Given the description of an element on the screen output the (x, y) to click on. 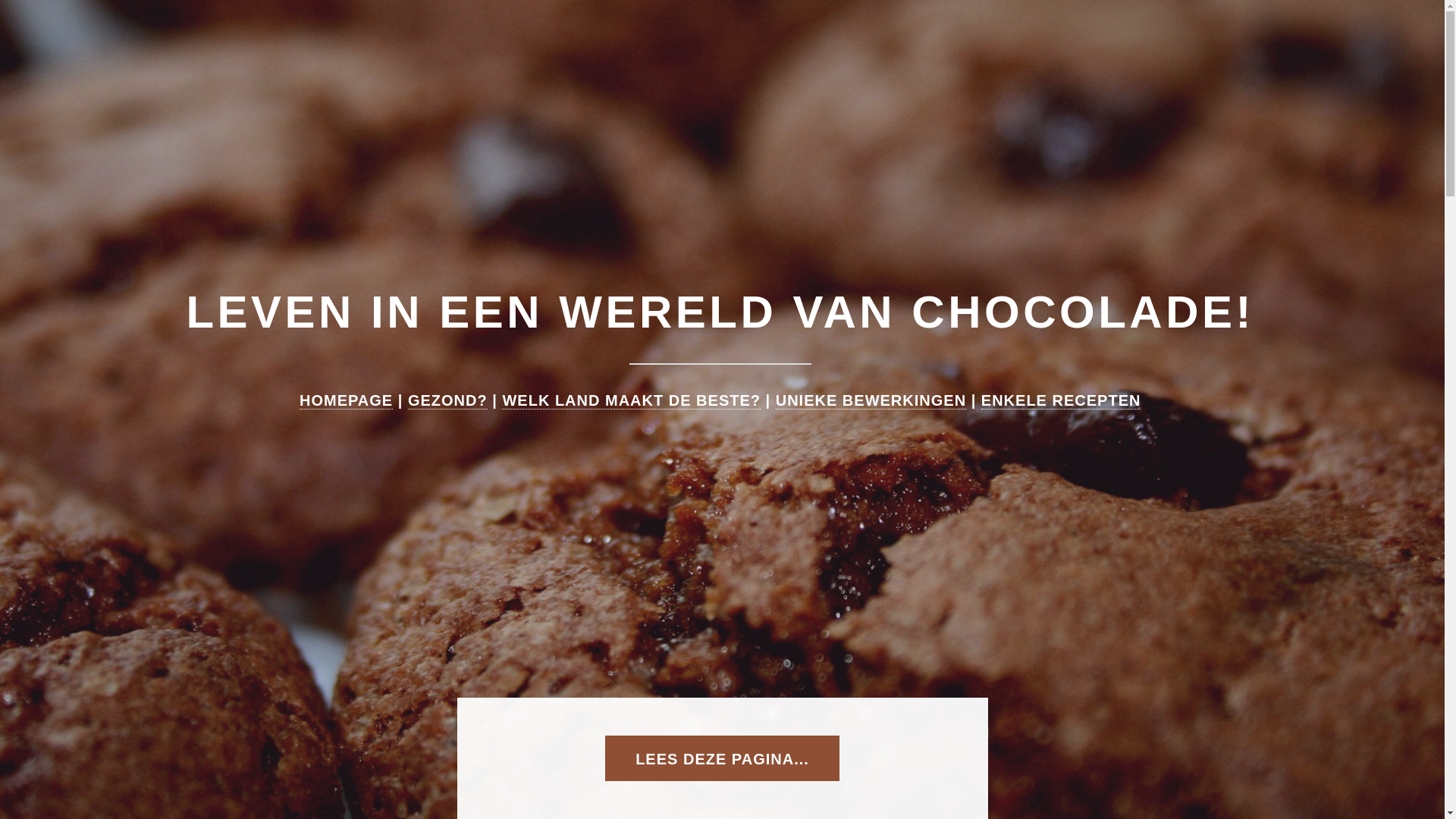
GEZOND? Element type: text (447, 400)
ENKELE RECEPTEN Element type: text (1061, 400)
LEES DEZE PAGINA... Element type: text (722, 758)
WELK LAND MAAKT DE BESTE? Element type: text (631, 400)
UNIEKE BEWERKINGEN Element type: text (870, 400)
HOMEPAGE Element type: text (345, 400)
